Given the description of an element on the screen output the (x, y) to click on. 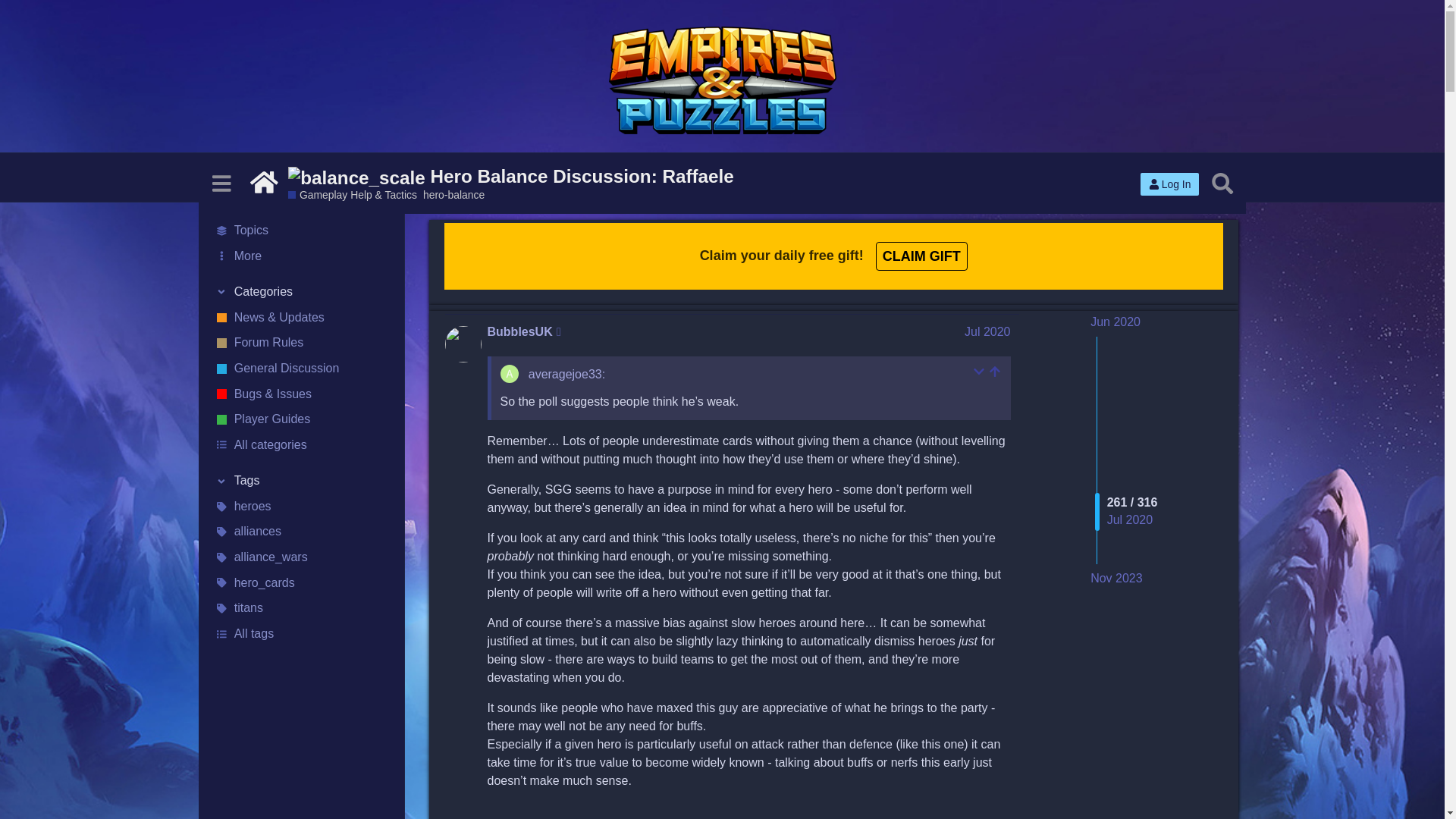
All tags (301, 633)
alliances (301, 532)
hero-balance (453, 194)
CLAIM GIFT (922, 255)
All topics (301, 230)
Toggle section (301, 481)
Forum Rules (301, 343)
Toggle section (301, 292)
Hero Balance Discussion: Raffaele (510, 176)
